Given the description of an element on the screen output the (x, y) to click on. 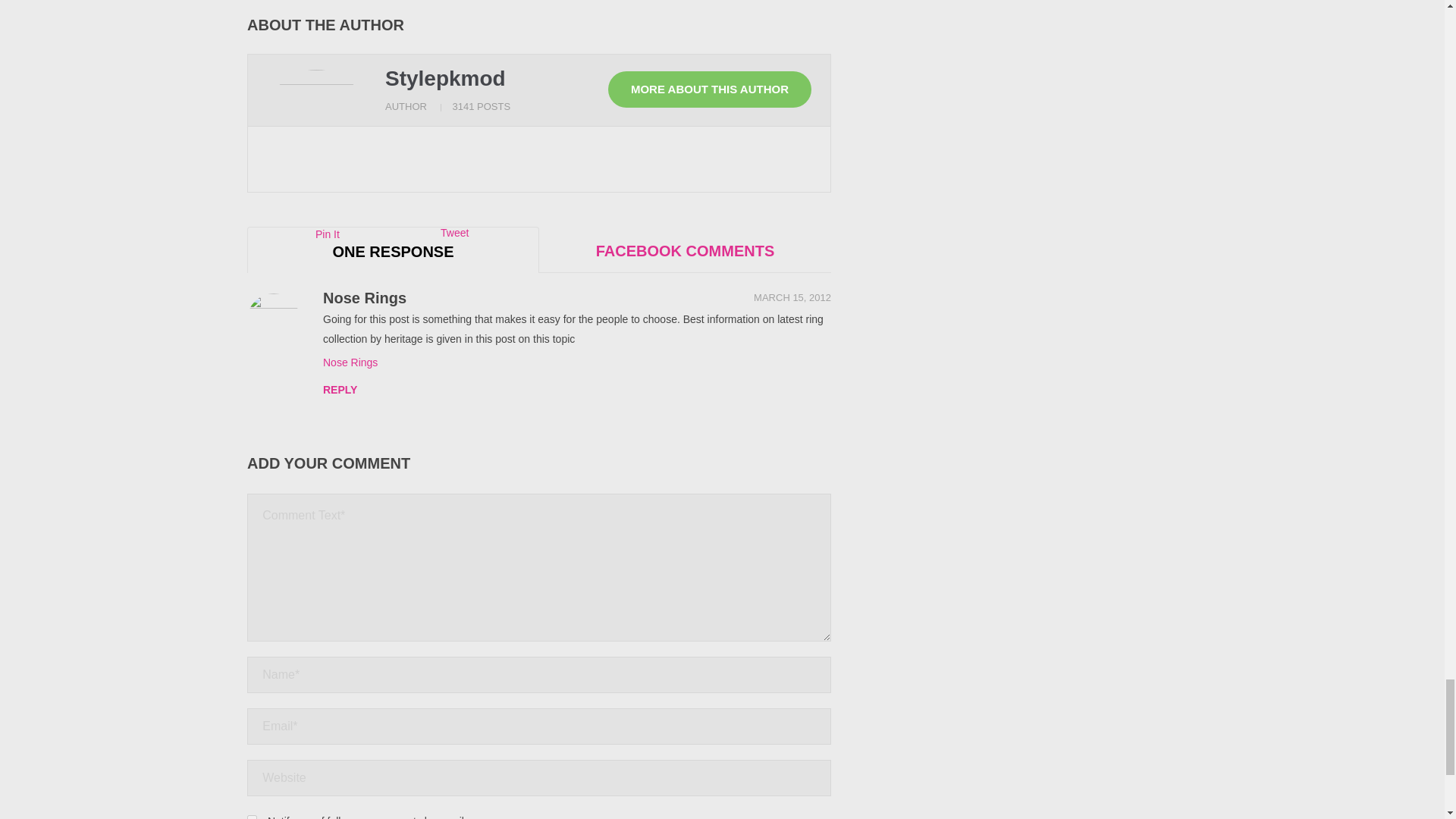
subscribe (252, 816)
